Given the description of an element on the screen output the (x, y) to click on. 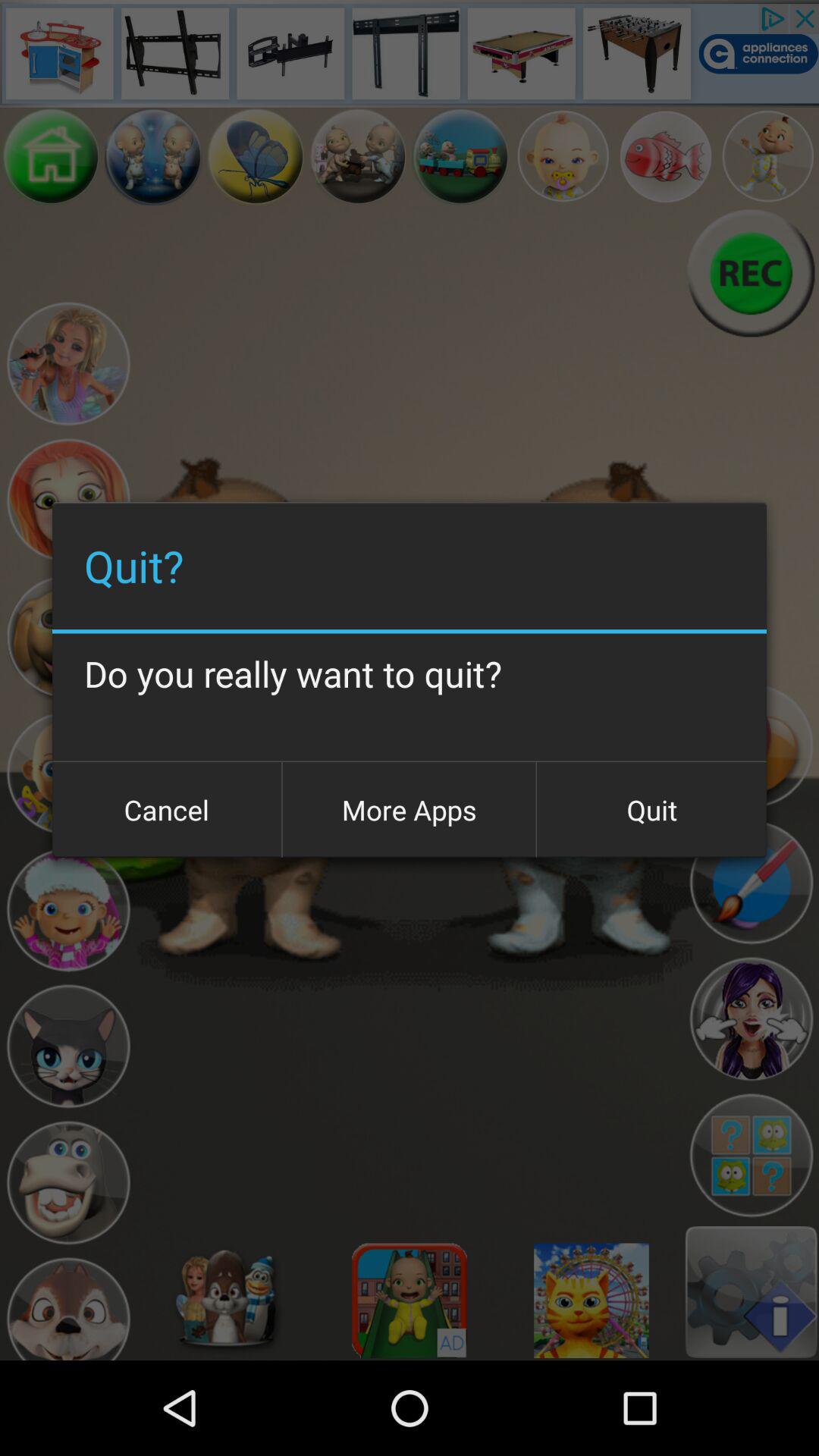
shows animation icon (68, 909)
